Given the description of an element on the screen output the (x, y) to click on. 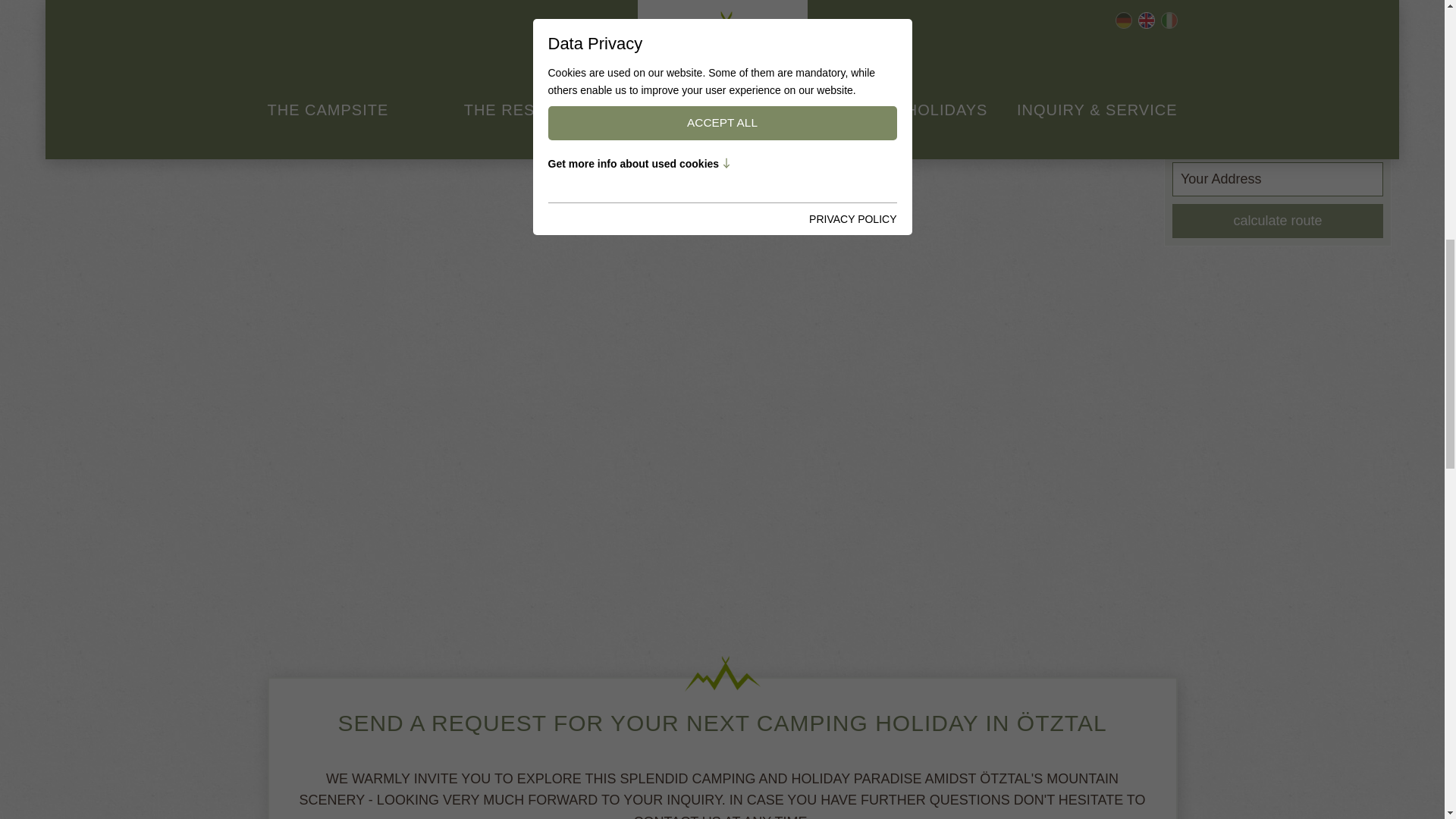
calculate route (1277, 220)
